Given the description of an element on the screen output the (x, y) to click on. 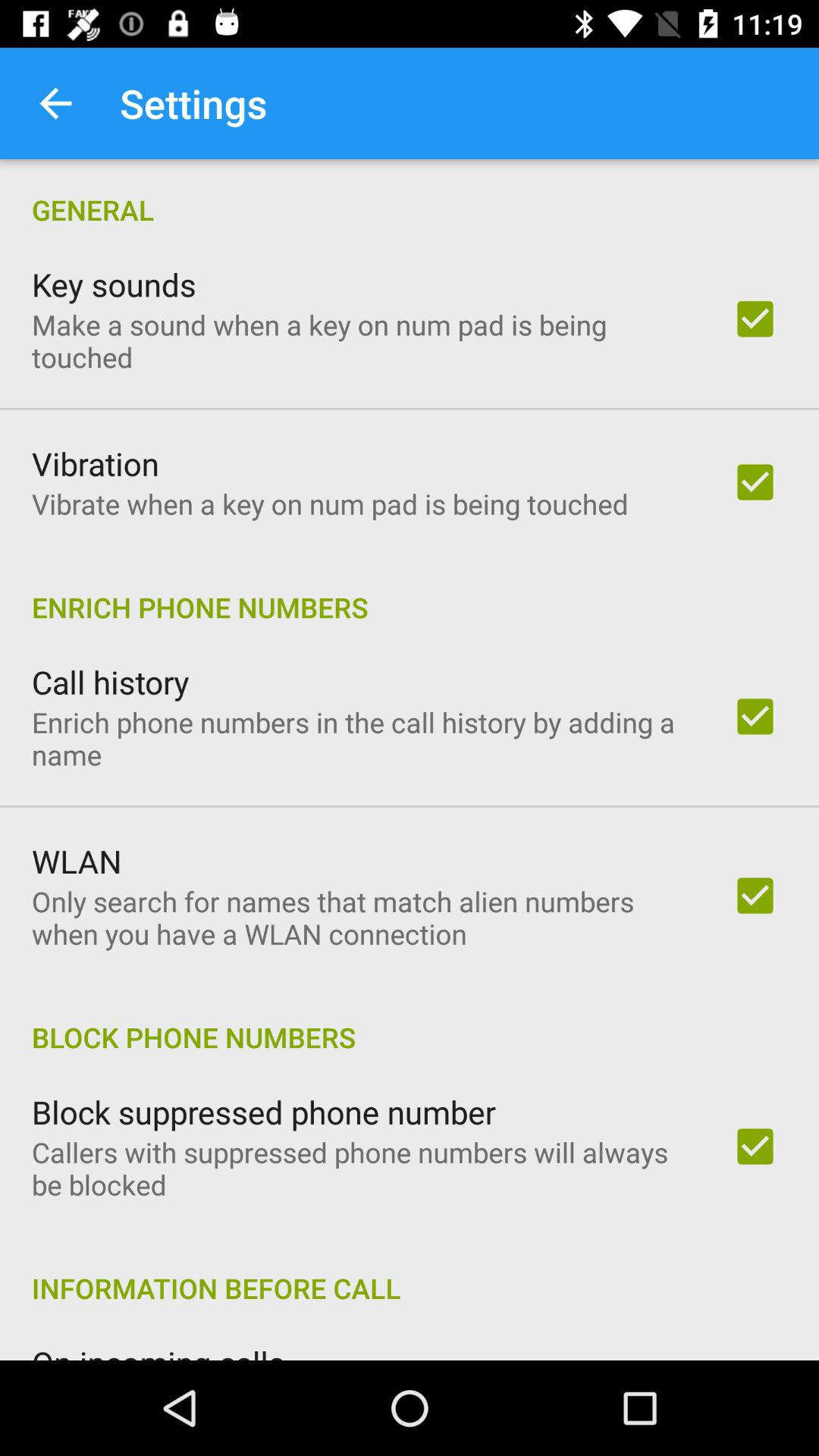
flip to the callers with suppressed (361, 1168)
